Given the description of an element on the screen output the (x, y) to click on. 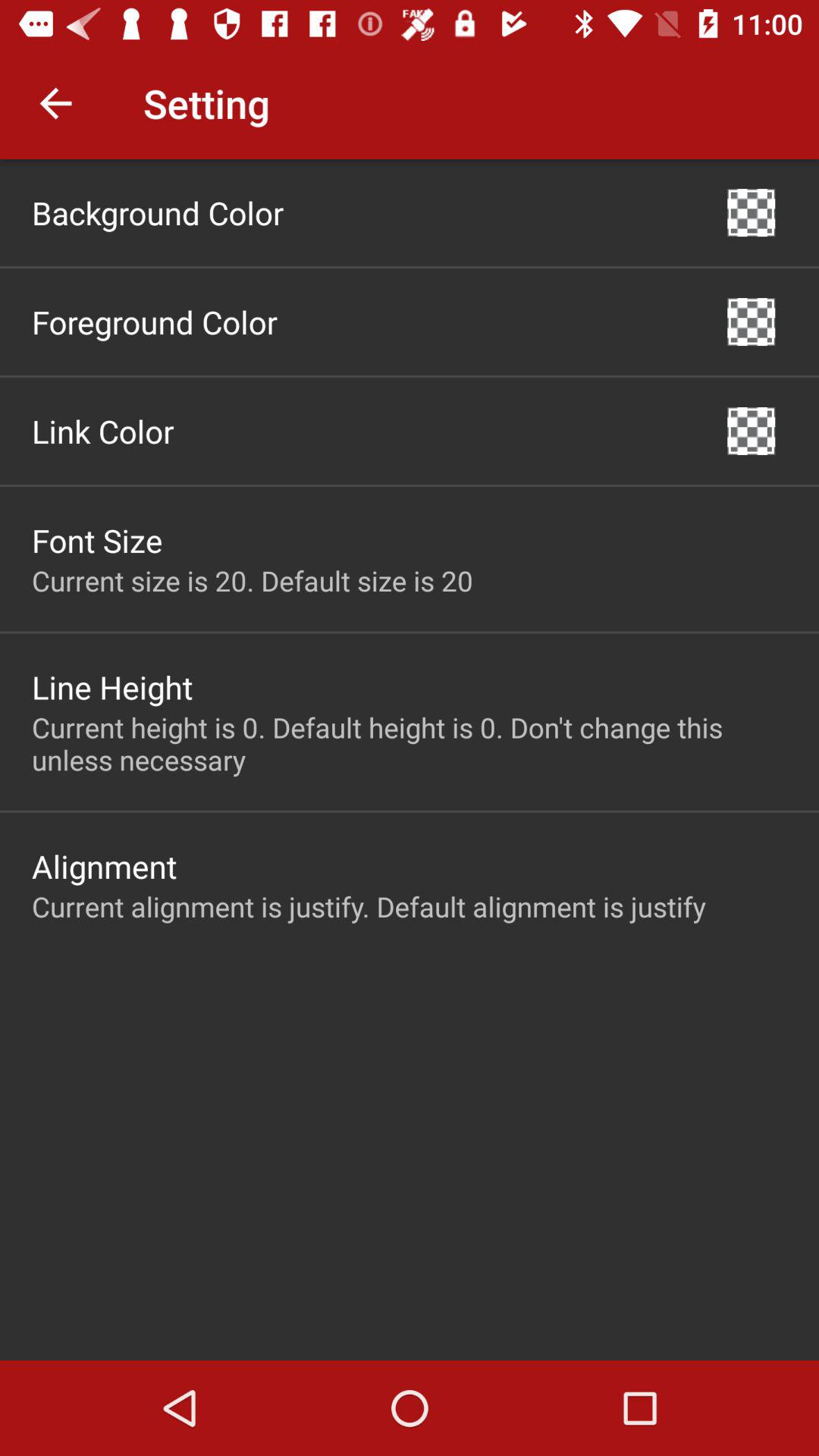
turn on link color (102, 430)
